Given the description of an element on the screen output the (x, y) to click on. 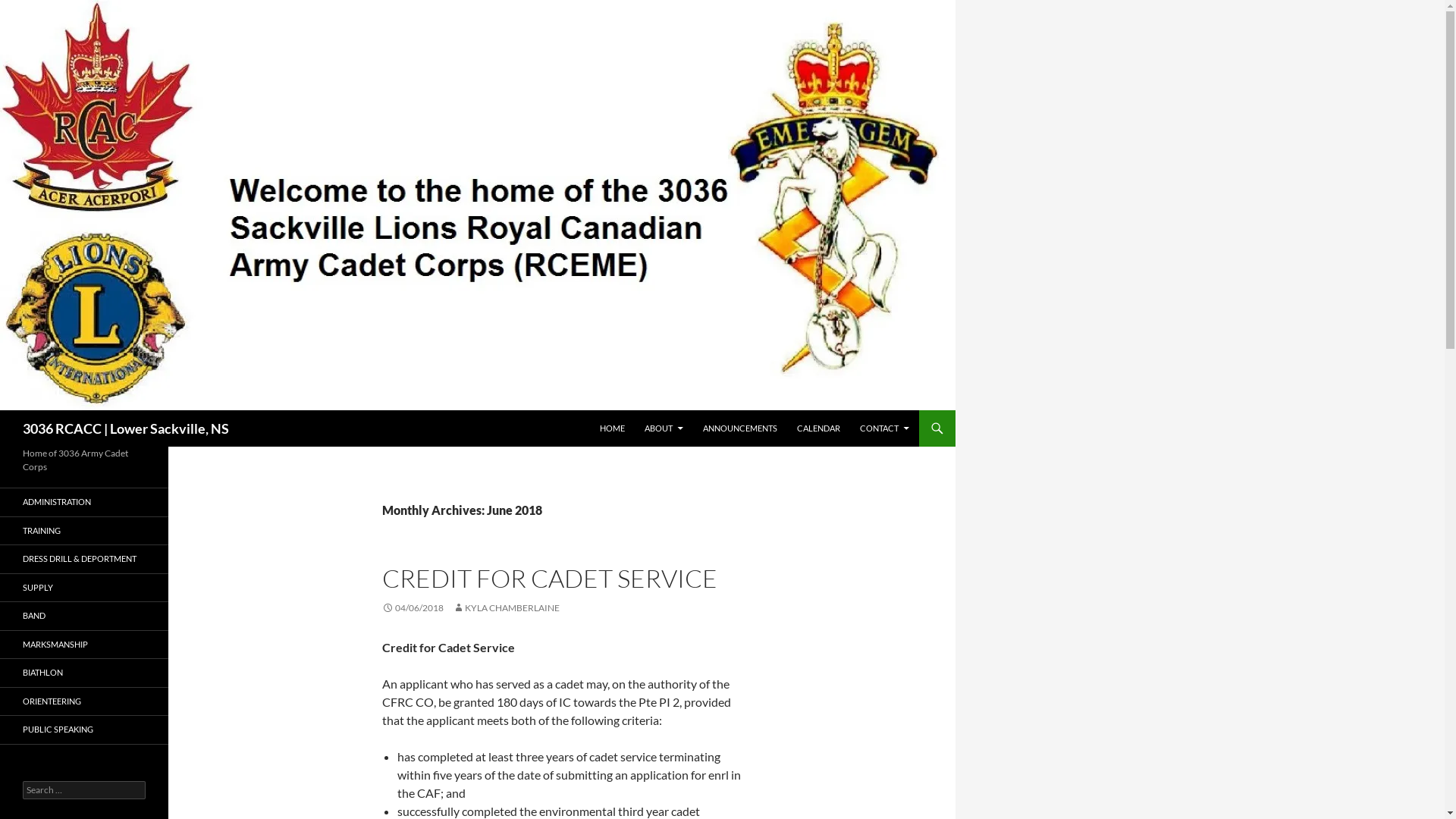
ORIENTEERING Element type: text (84, 701)
CREDIT FOR CADET SERVICE Element type: text (549, 577)
ABOUT Element type: text (663, 428)
TRAINING Element type: text (84, 531)
Search Element type: text (3, 409)
Search Element type: text (29, 9)
DRESS DRILL & DEPORTMENT Element type: text (84, 559)
HOME Element type: text (611, 428)
CONTACT Element type: text (884, 428)
04/06/2018 Element type: text (412, 607)
3036 RCACC | Lower Sackville, NS Element type: text (125, 428)
ADMINISTRATION Element type: text (84, 502)
CALENDAR Element type: text (818, 428)
MARKSMANSHIP Element type: text (84, 644)
SUPPLY Element type: text (84, 587)
SKIP TO CONTENT Element type: text (598, 409)
PUBLIC SPEAKING Element type: text (84, 729)
KYLA CHAMBERLAINE Element type: text (505, 607)
BAND Element type: text (84, 616)
BIATHLON Element type: text (84, 672)
ANNOUNCEMENTS Element type: text (739, 428)
